Given the description of an element on the screen output the (x, y) to click on. 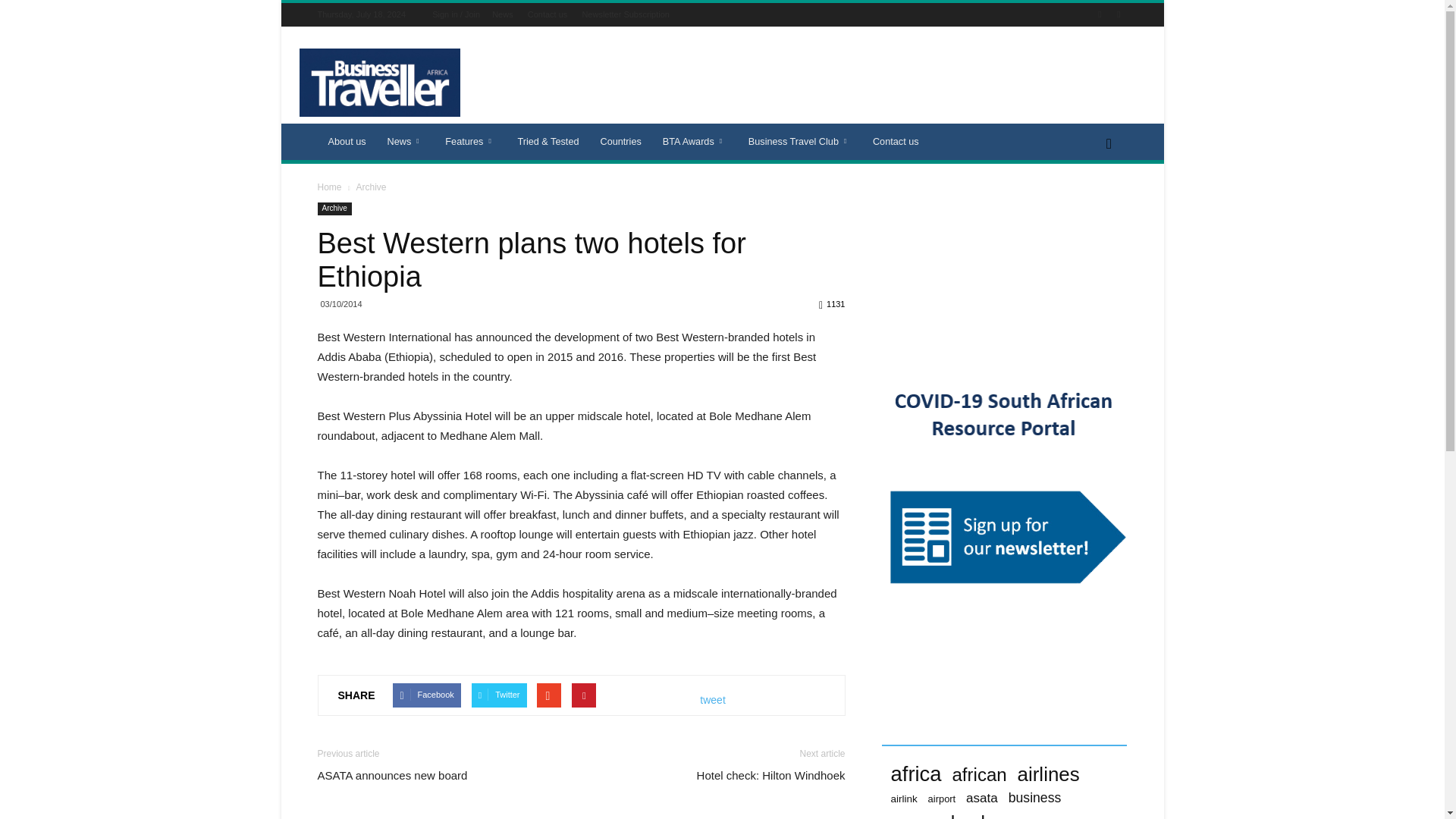
Contact us (547, 13)
Newsletter Subscription (624, 13)
Facebook (1099, 13)
About us (346, 141)
News (406, 141)
Twitter (1117, 13)
View all posts in Archive (370, 186)
News (502, 13)
YouTube video player (1003, 271)
